Given the description of an element on the screen output the (x, y) to click on. 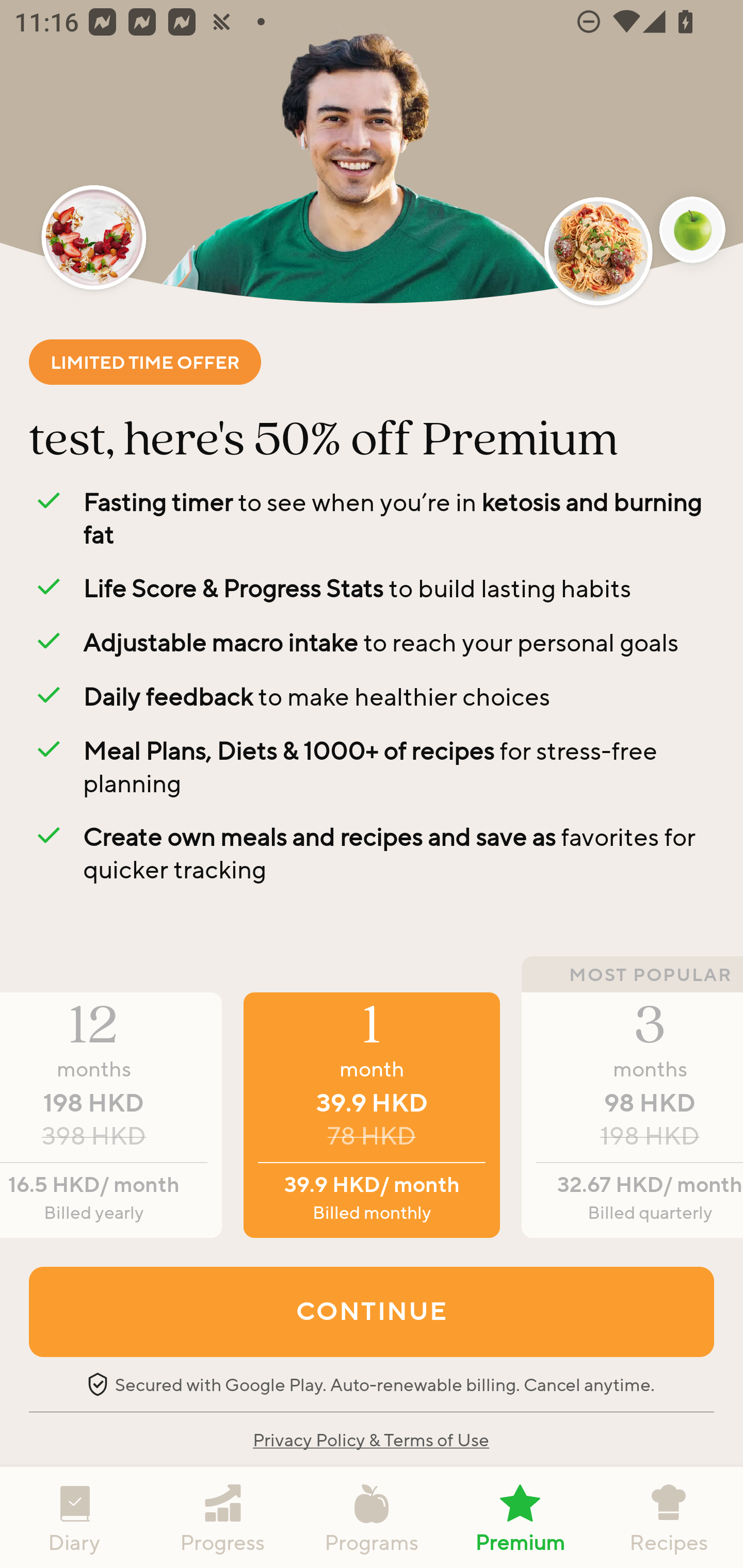
CONTINUE (371, 1311)
Privacy Policy & Terms of Use (370, 1438)
Diary (74, 1517)
Progress (222, 1517)
Programs (371, 1517)
Recipes (668, 1517)
